Given the description of an element on the screen output the (x, y) to click on. 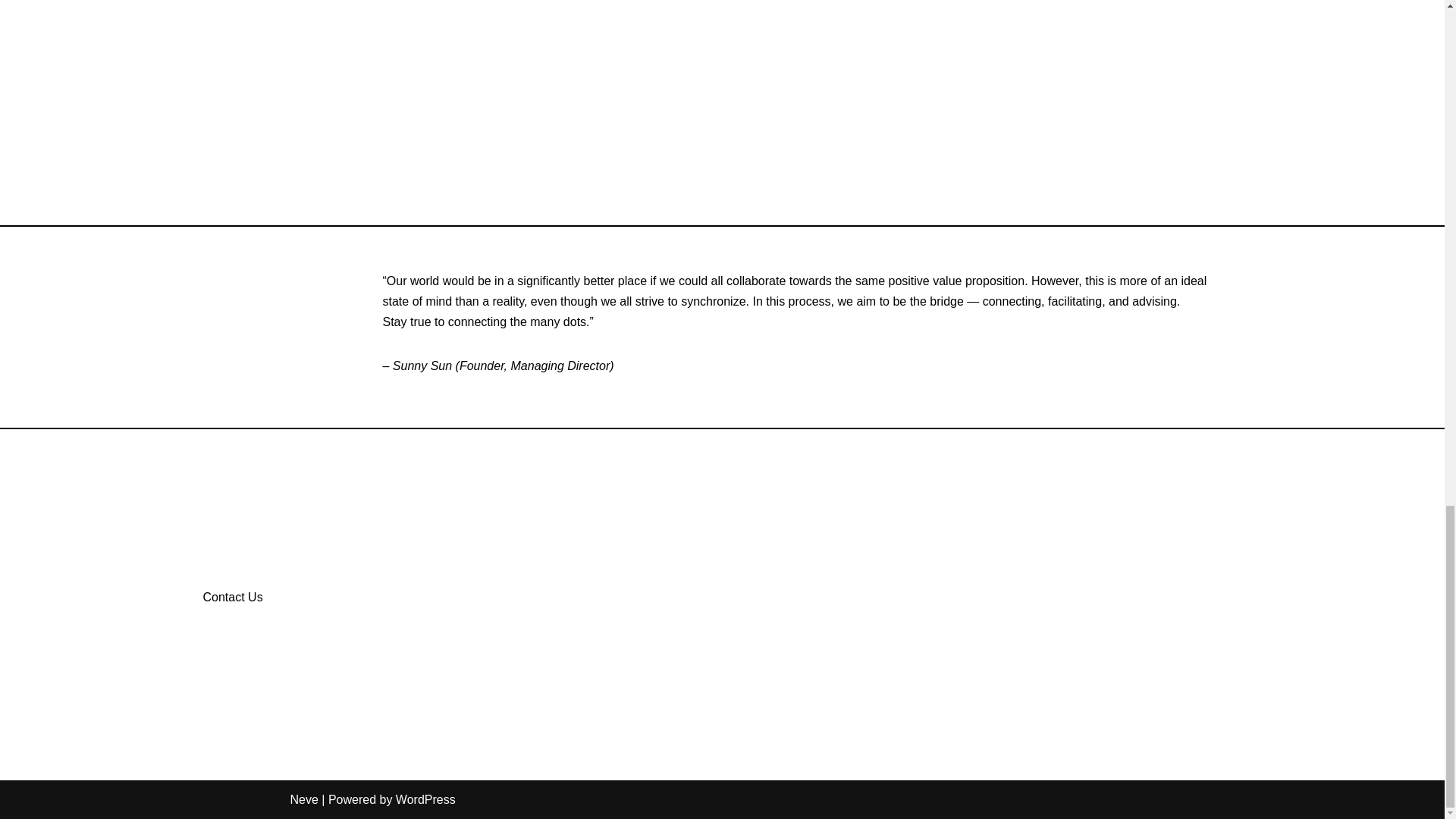
Contact Us (233, 597)
Neve (303, 799)
WordPress (425, 799)
